Given the description of an element on the screen output the (x, y) to click on. 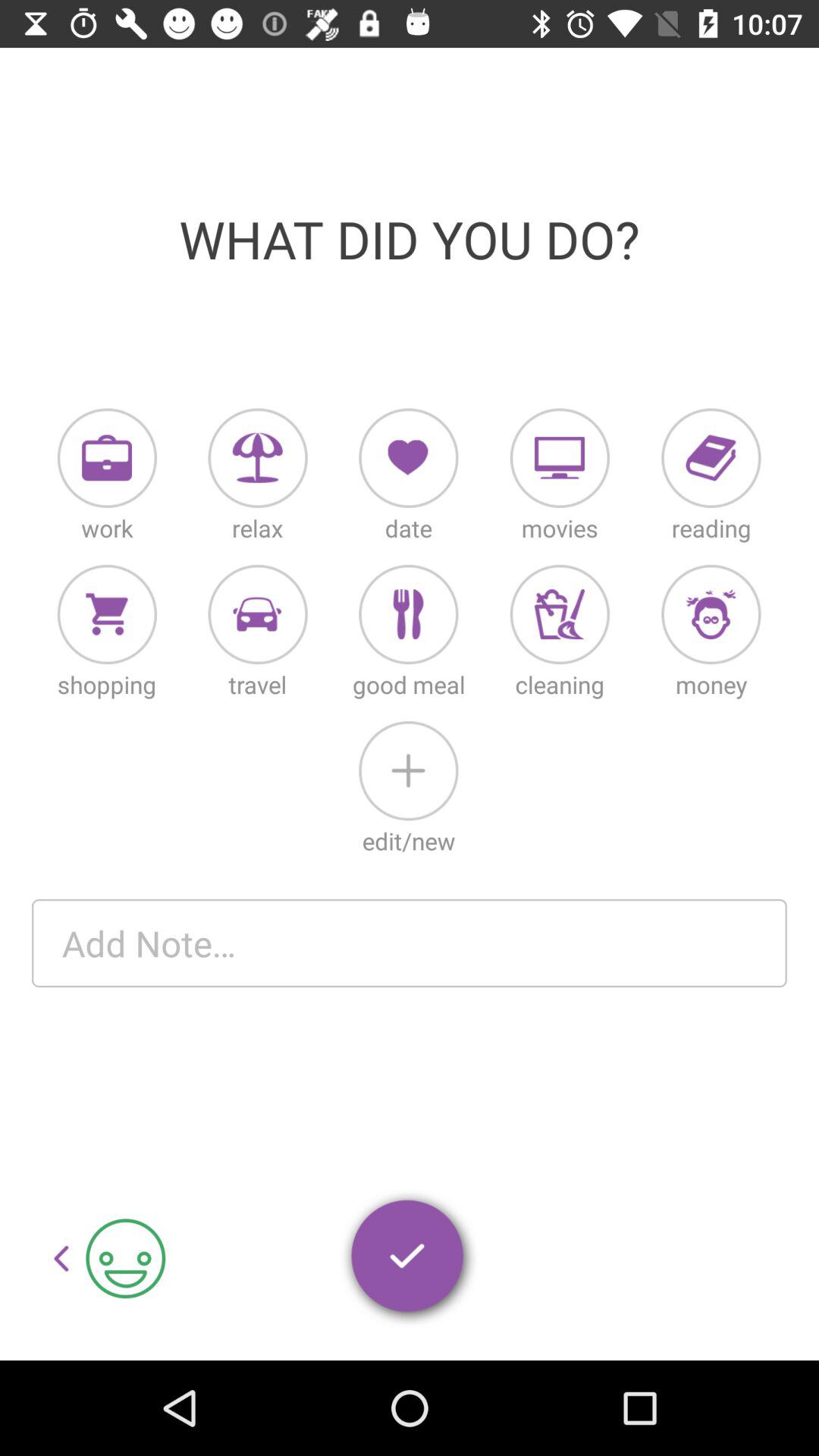
go to reading (710, 457)
